Given the description of an element on the screen output the (x, y) to click on. 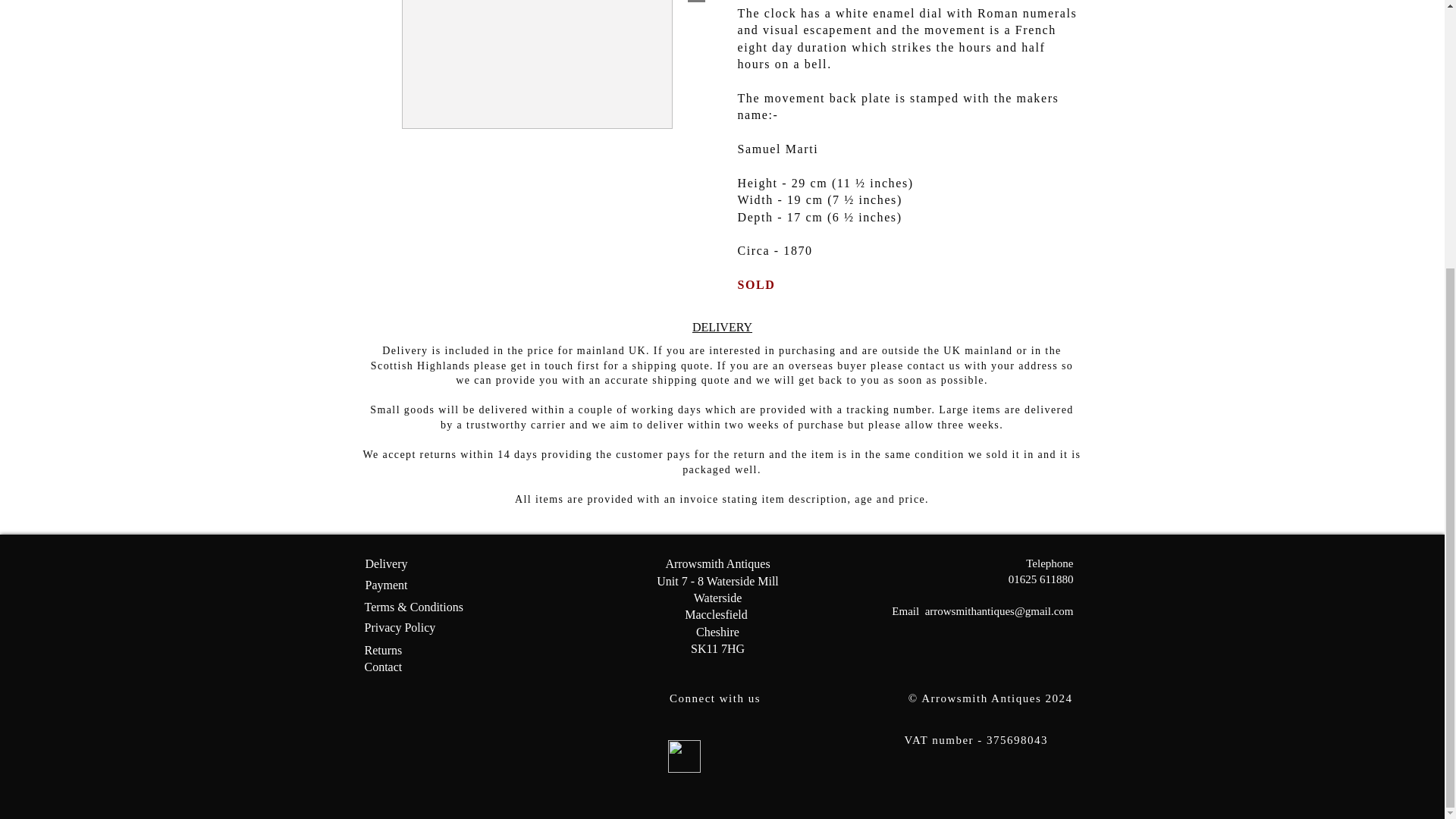
DELIVERY (722, 327)
Delivery (386, 563)
Payment (386, 584)
Contact (382, 666)
Twitter Follow (741, 754)
Returns (382, 649)
Privacy Policy (399, 626)
